Given the description of an element on the screen output the (x, y) to click on. 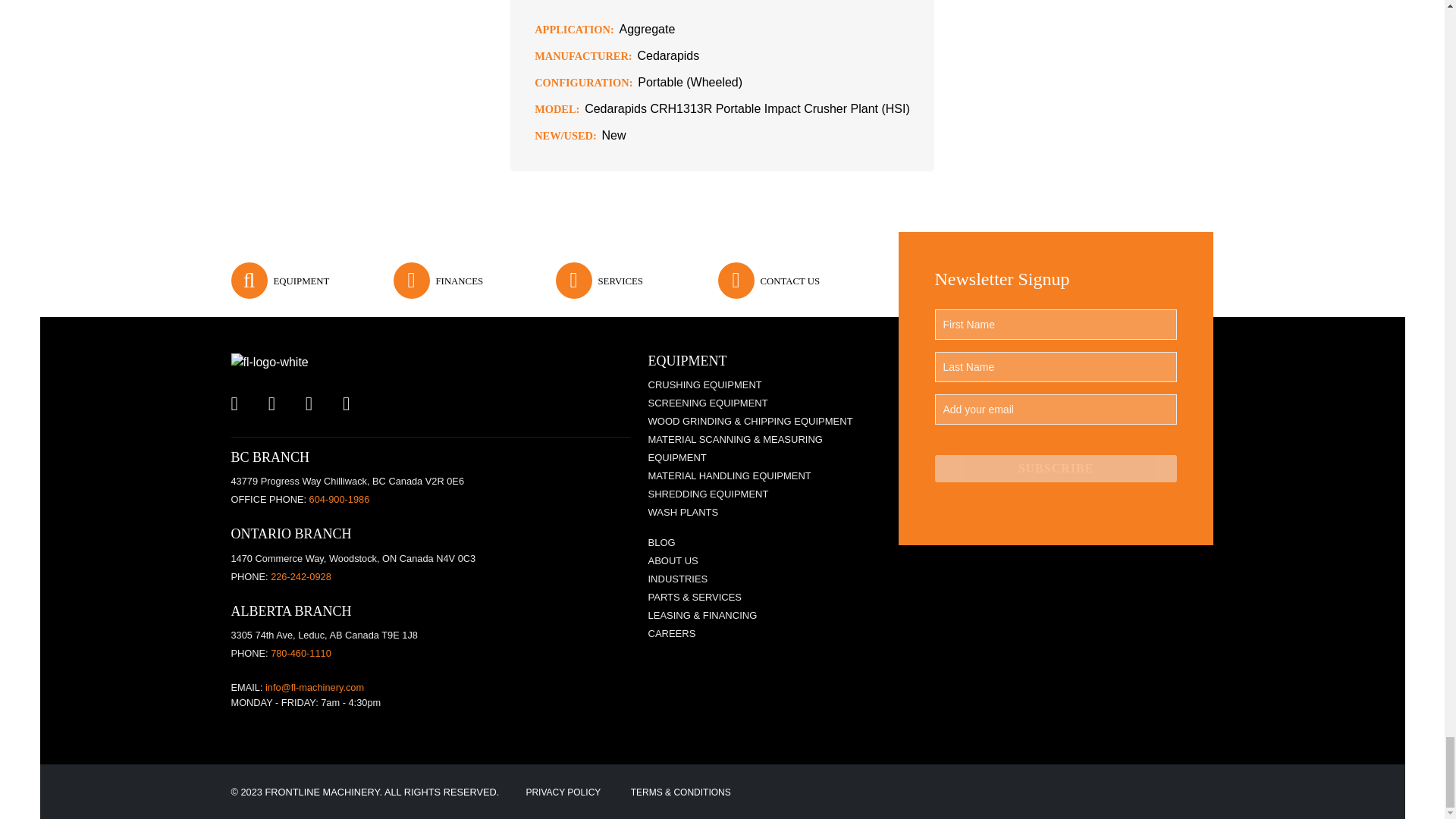
Subscribe (1055, 468)
